Given the description of an element on the screen output the (x, y) to click on. 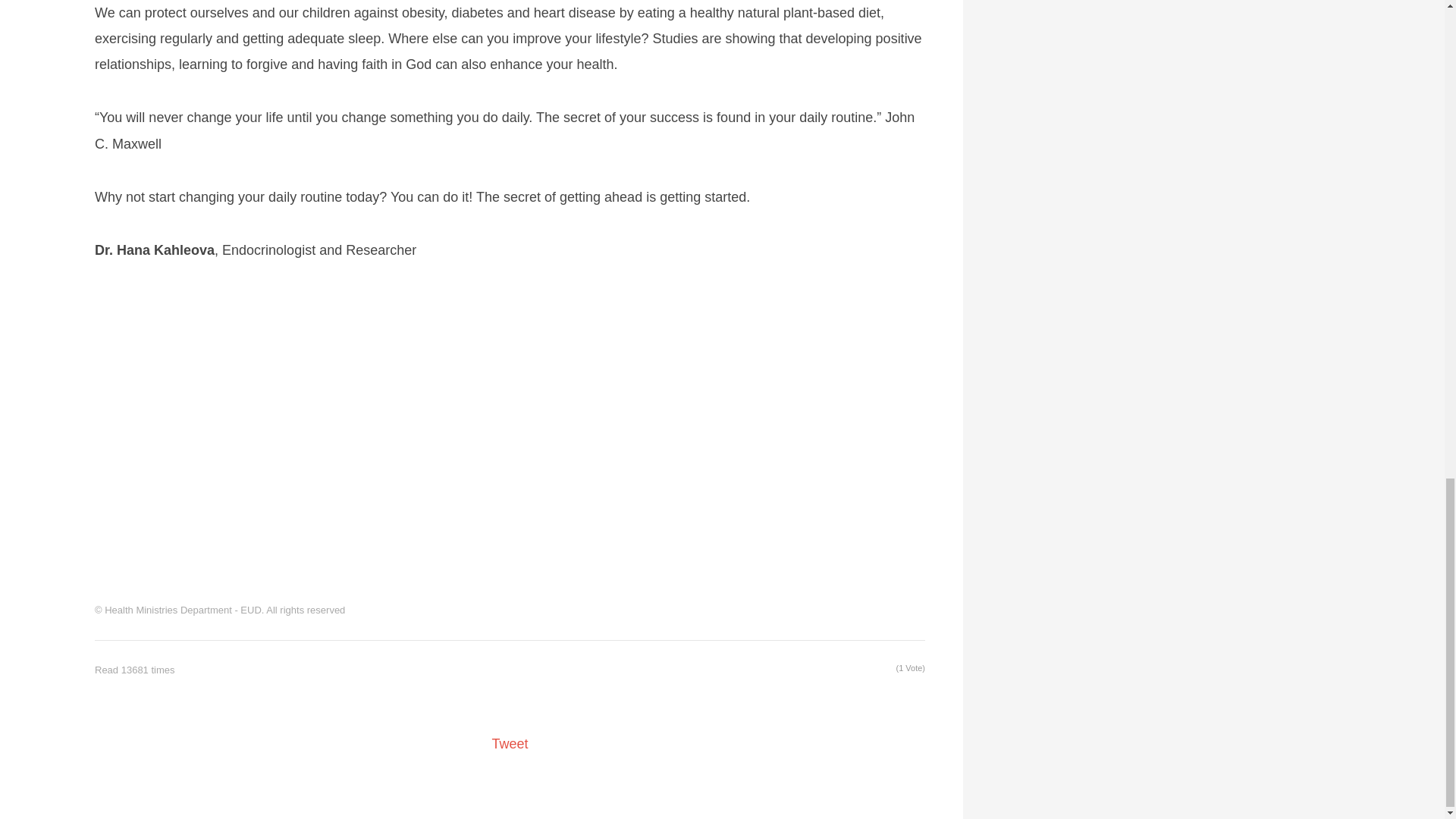
5 stars out of 5 (840, 669)
5 (840, 669)
4 (831, 669)
4 stars out of 5 (831, 669)
2 (812, 669)
2 stars out of 5 (812, 669)
3 stars out of 5 (821, 669)
Tweet (509, 743)
1 star out of 5 (802, 669)
3 (821, 669)
1 (802, 669)
